Given the description of an element on the screen output the (x, y) to click on. 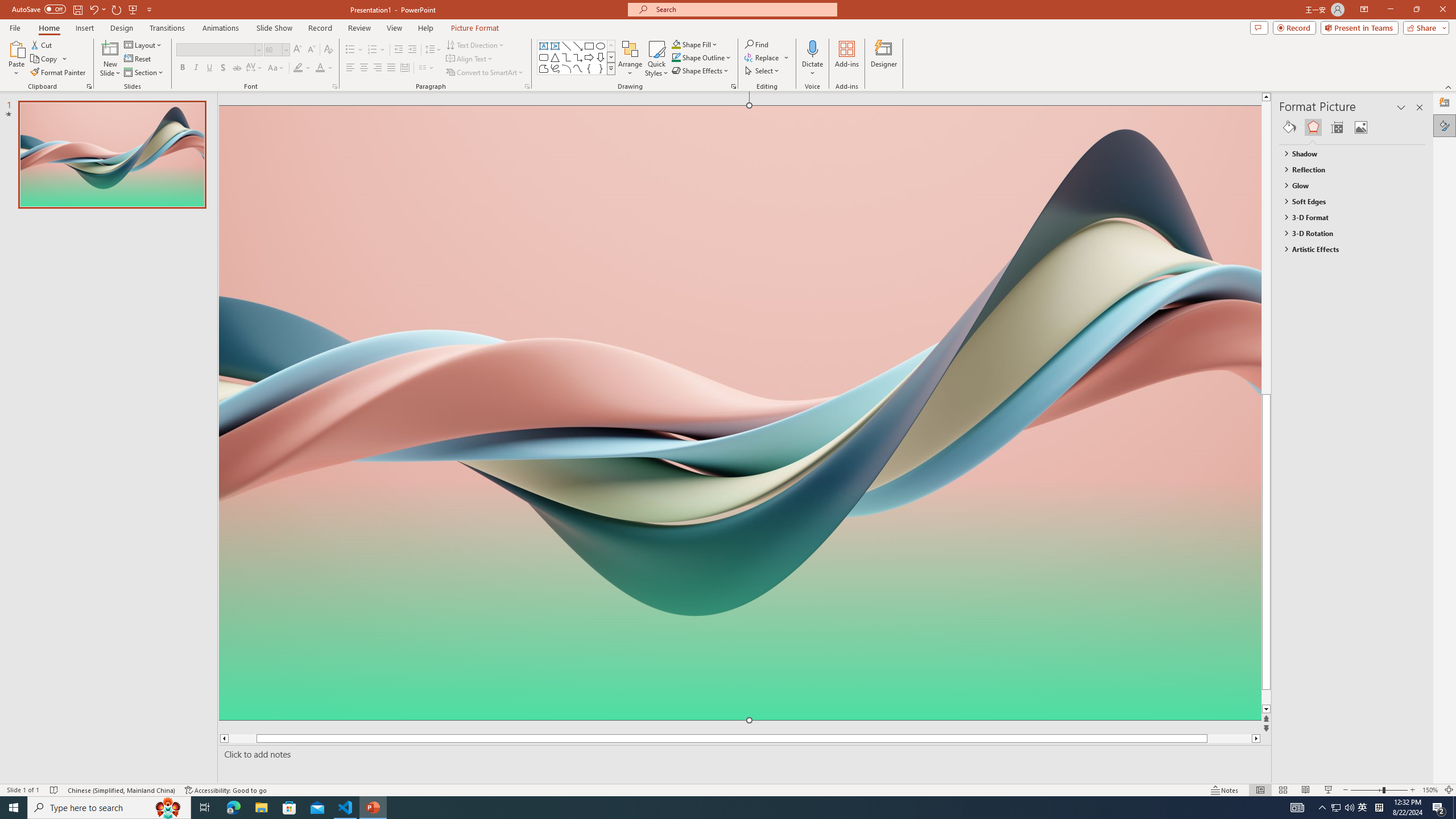
Zoom 150% (1430, 790)
Curve (577, 68)
Connector: Elbow Arrow (577, 57)
Arrow: Right (589, 57)
Redo (117, 9)
Oval (600, 45)
Zoom Out (1367, 790)
System (6, 6)
Cut (42, 44)
Restore Down (1416, 9)
Replace... (762, 56)
Shape Outline (701, 56)
Decorative Locked (739, 579)
Zoom to Fit  (1449, 790)
Align Left (349, 67)
